Given the description of an element on the screen output the (x, y) to click on. 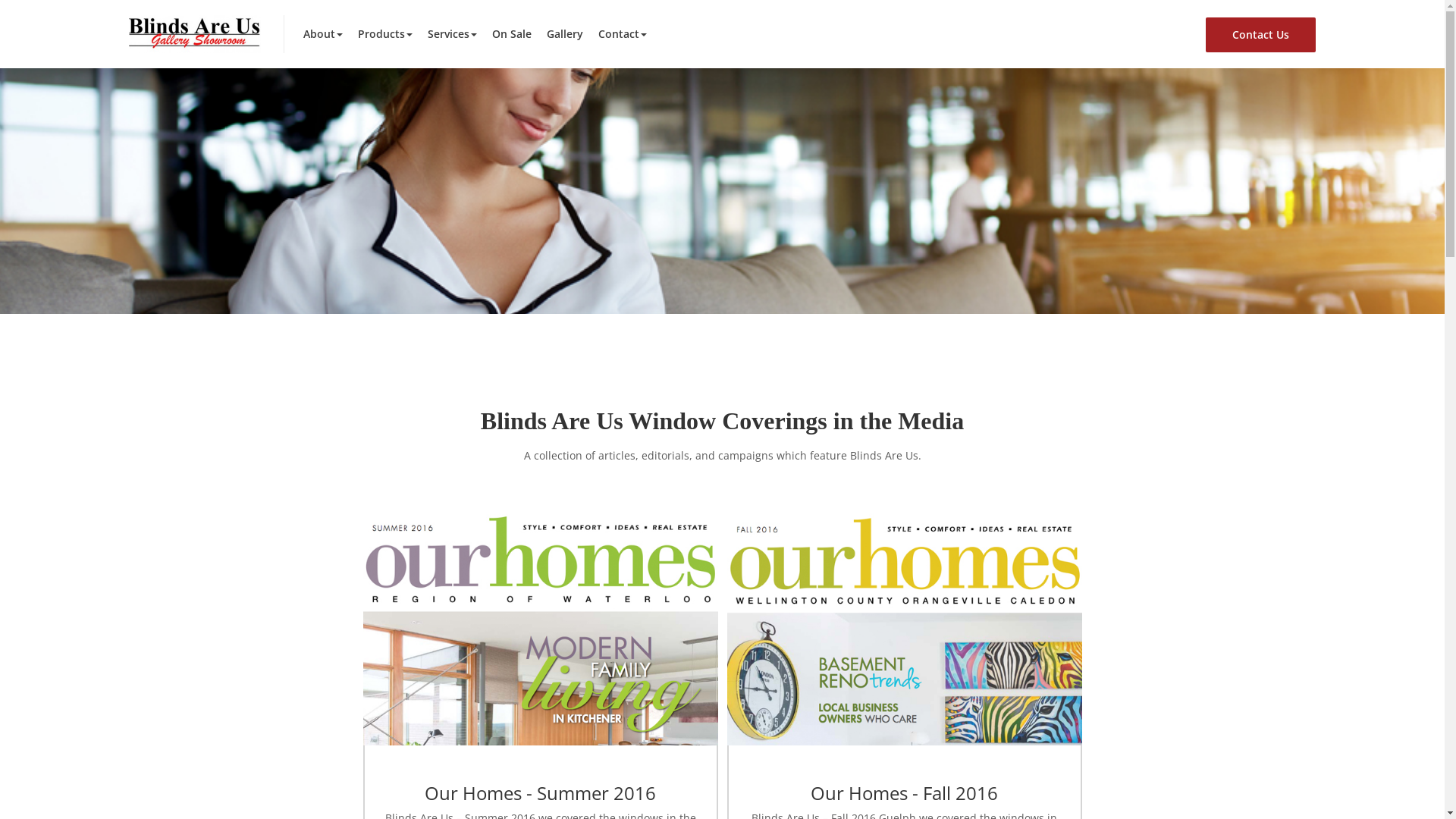
Contact Us Element type: text (1260, 34)
About Element type: text (322, 34)
On Sale Element type: text (511, 34)
Gallery Element type: text (564, 34)
Products Element type: text (385, 34)
View More Element type: text (903, 625)
View More Element type: text (539, 625)
Blinds Are Us Element type: text (194, 32)
Contact Element type: text (622, 34)
Services Element type: text (452, 34)
